Given the description of an element on the screen output the (x, y) to click on. 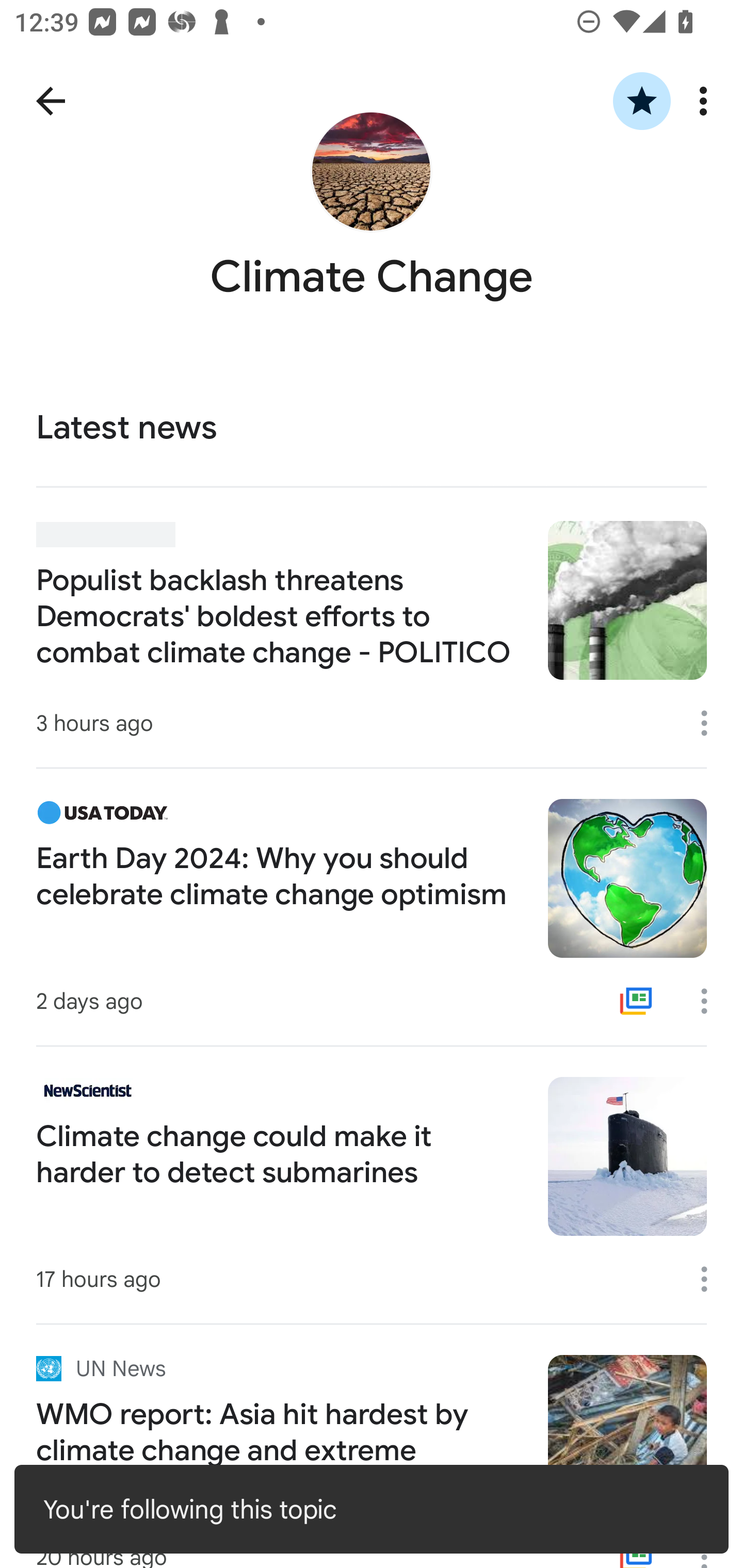
Navigate up (50, 101)
More options (706, 101)
Latest news (371, 428)
More options (711, 722)
More options (711, 1001)
More options (711, 1279)
